Given the description of an element on the screen output the (x, y) to click on. 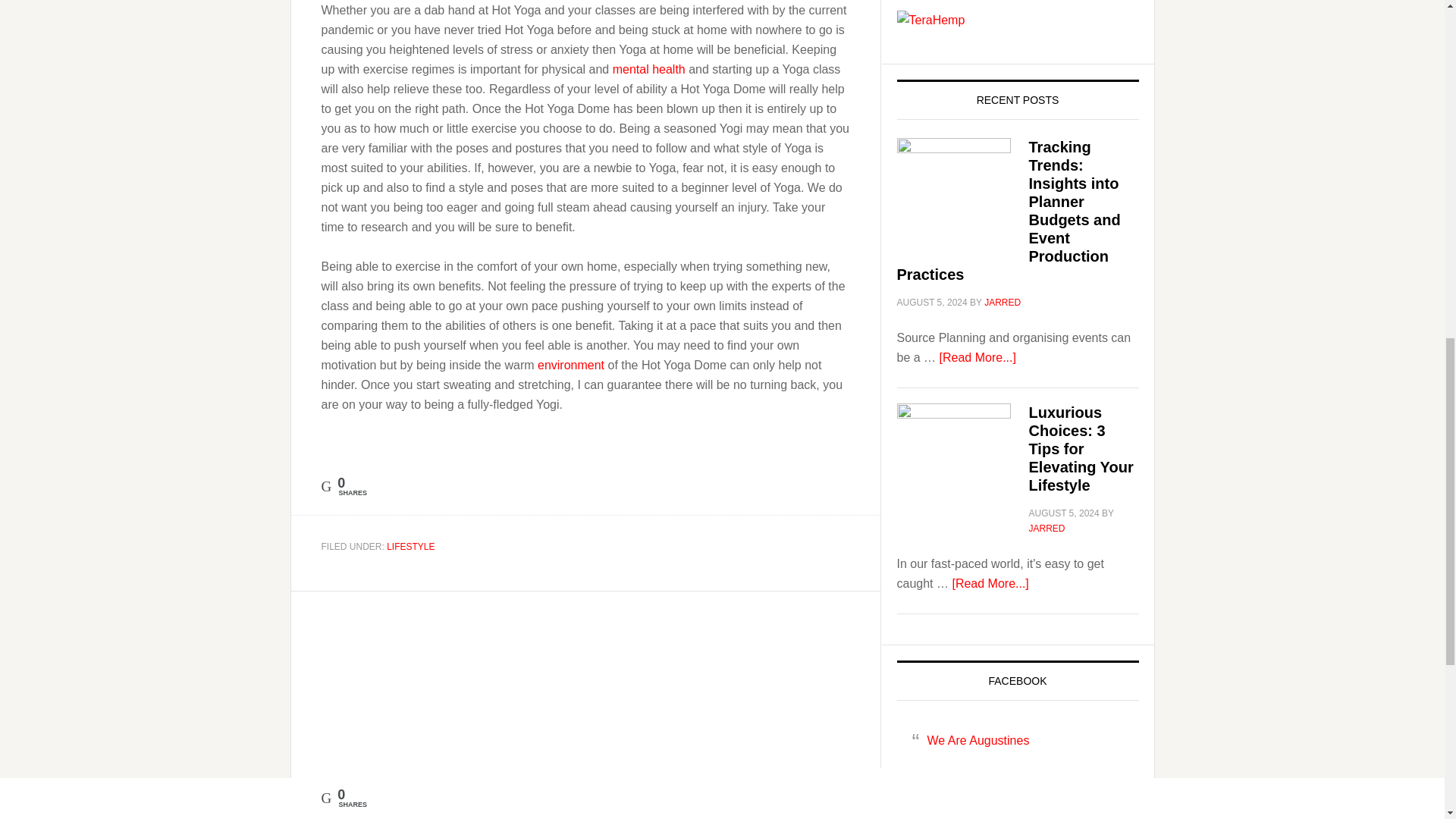
We Are Augustines (977, 739)
environment (570, 364)
LIFESTYLE (410, 546)
JARRED (1045, 528)
Luxurious Choices: 3 Tips for Elevating Your Lifestyle (1079, 448)
JARRED (1002, 302)
TeraHemp (929, 19)
mental health (648, 68)
